Given the description of an element on the screen output the (x, y) to click on. 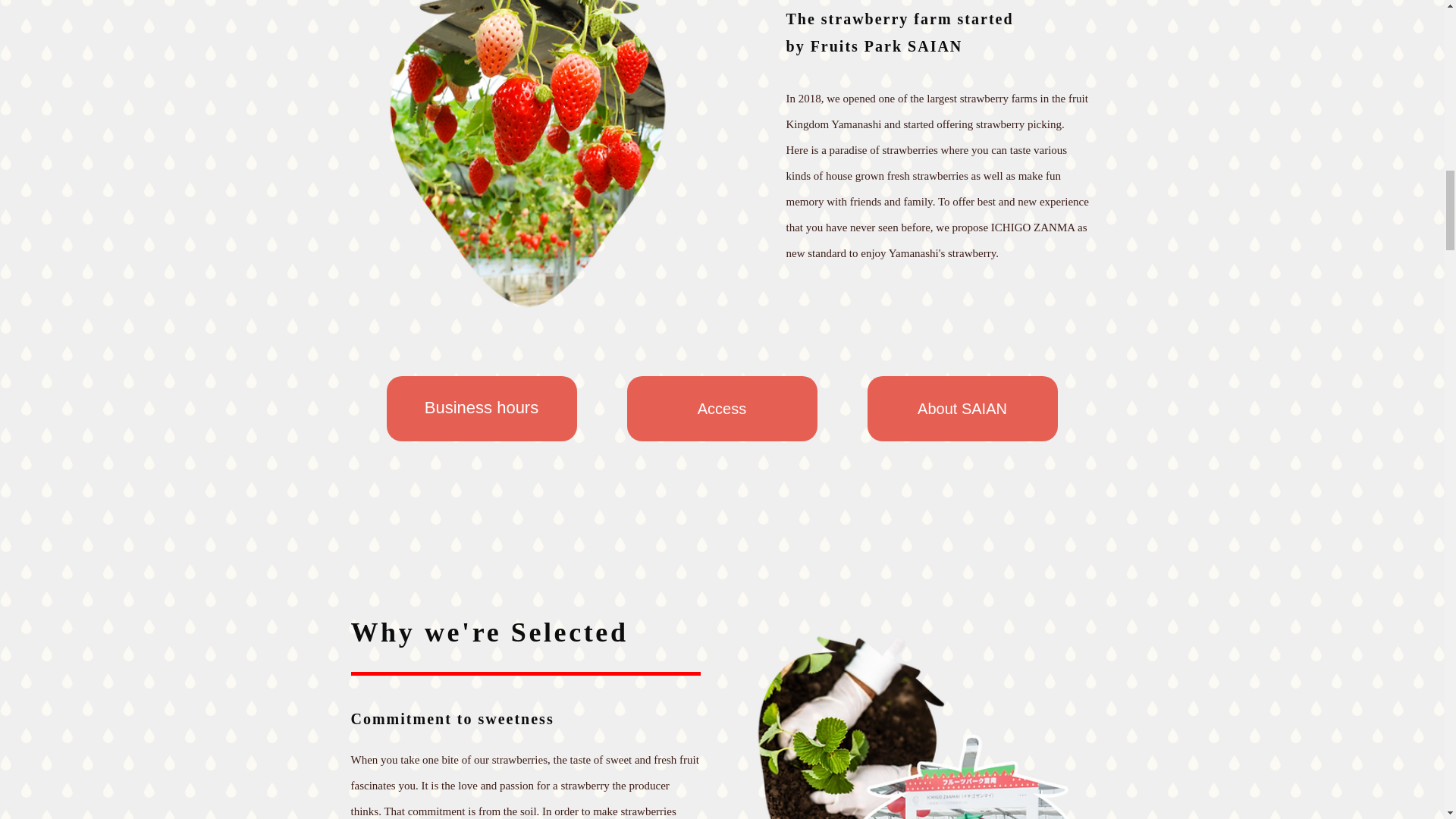
Access (721, 408)
Business hours (481, 408)
About SAIAN (962, 408)
